Given the description of an element on the screen output the (x, y) to click on. 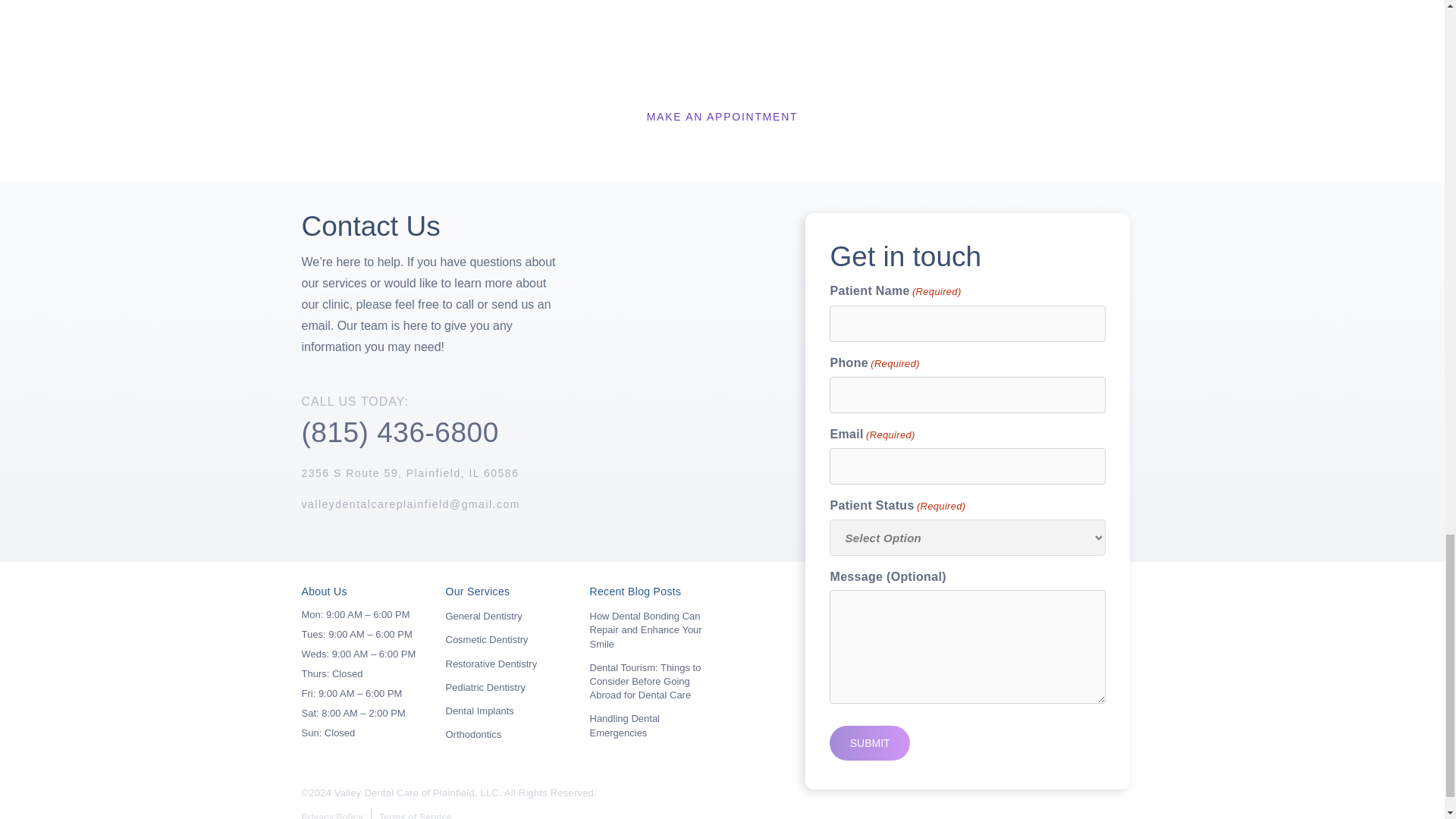
How Dental Bonding Can Repair and Enhance Your Smile (645, 629)
MAKE AN APPOINTMENT (721, 117)
Restorative Dentistry (491, 663)
Submit (868, 742)
Dental Implants (479, 710)
2356 S Route 59, Plainfield, IL 60586 (410, 472)
General Dentistry (483, 615)
Submit (868, 742)
Cosmetic Dentistry (486, 639)
Pediatric Dentistry (485, 686)
Handling Dental Emergencies (625, 724)
Orthodontics (473, 734)
